Given the description of an element on the screen output the (x, y) to click on. 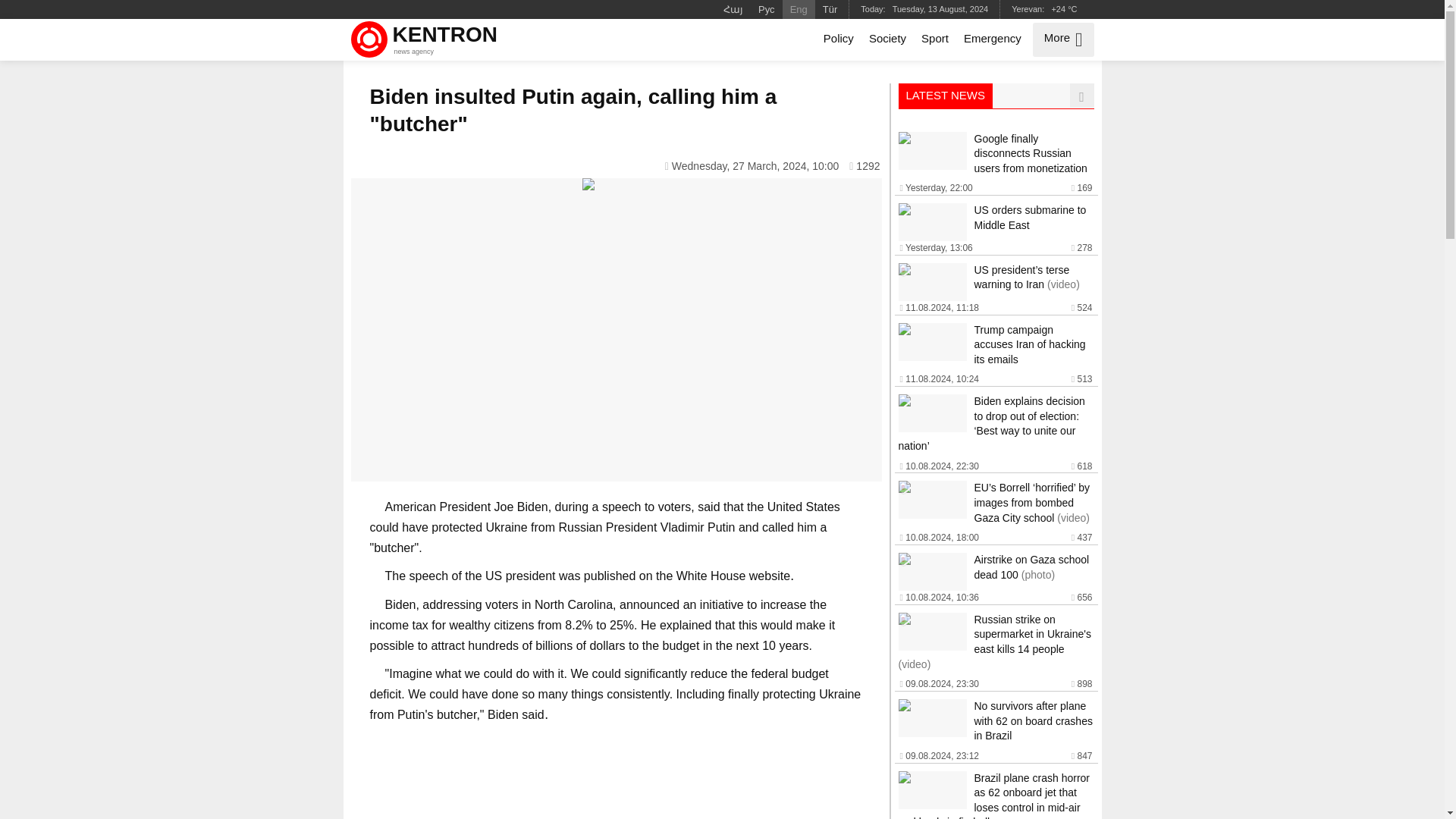
Policy (838, 39)
English (799, 9)
Society (887, 39)
Sport (935, 39)
Emergency (426, 39)
